Given the description of an element on the screen output the (x, y) to click on. 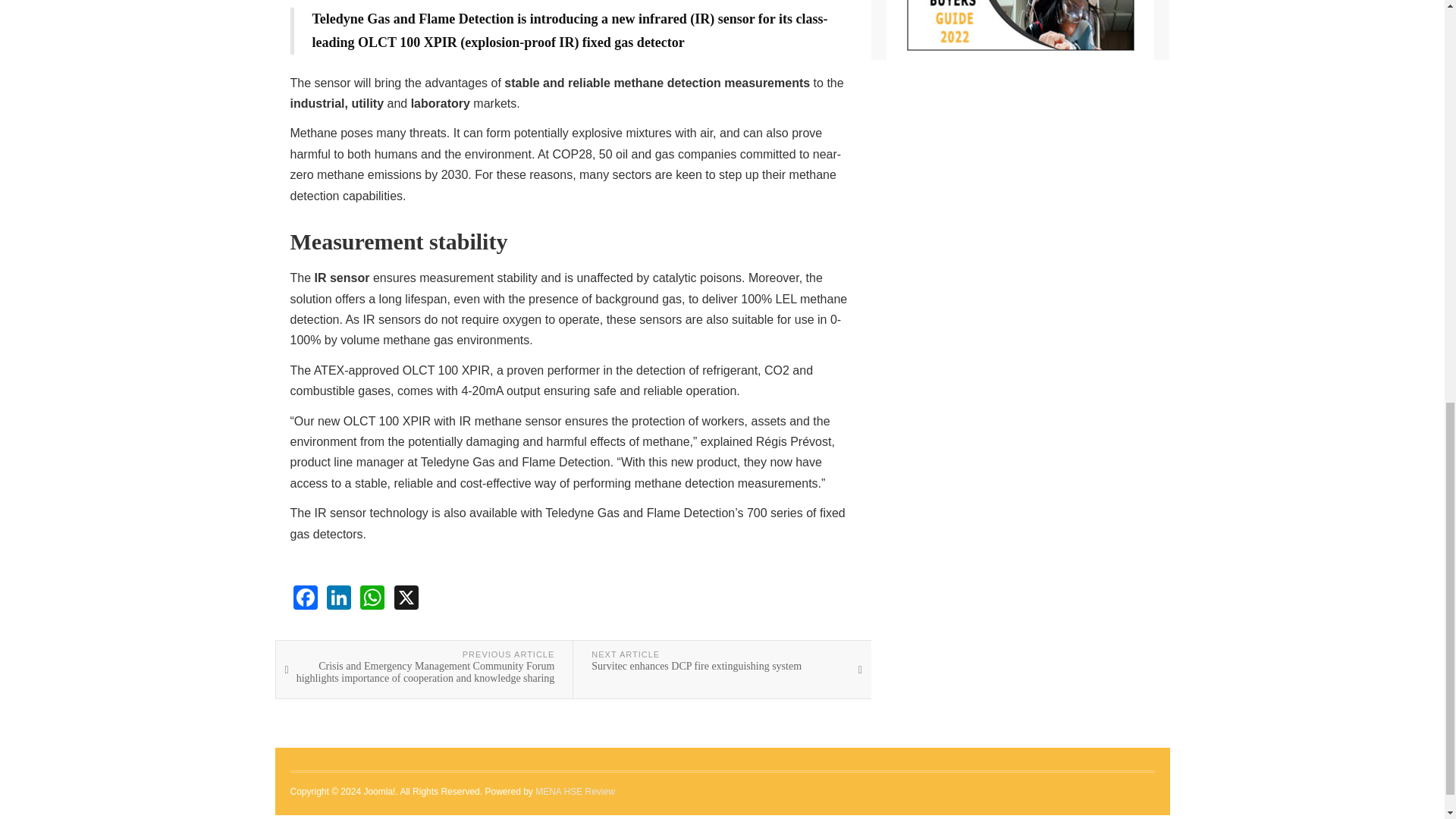
MENA HSE Review (574, 791)
